Given the description of an element on the screen output the (x, y) to click on. 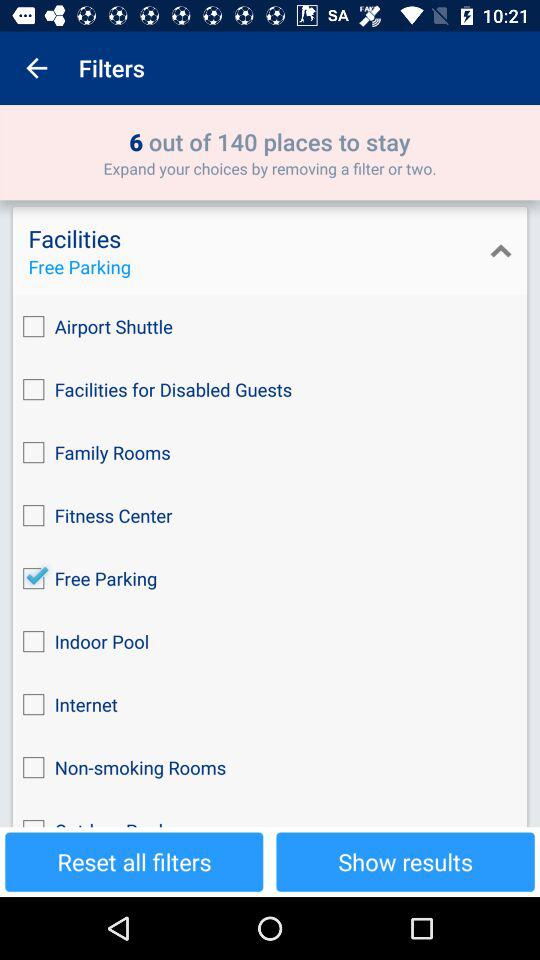
click the icon above family rooms icon (269, 389)
